Given the description of an element on the screen output the (x, y) to click on. 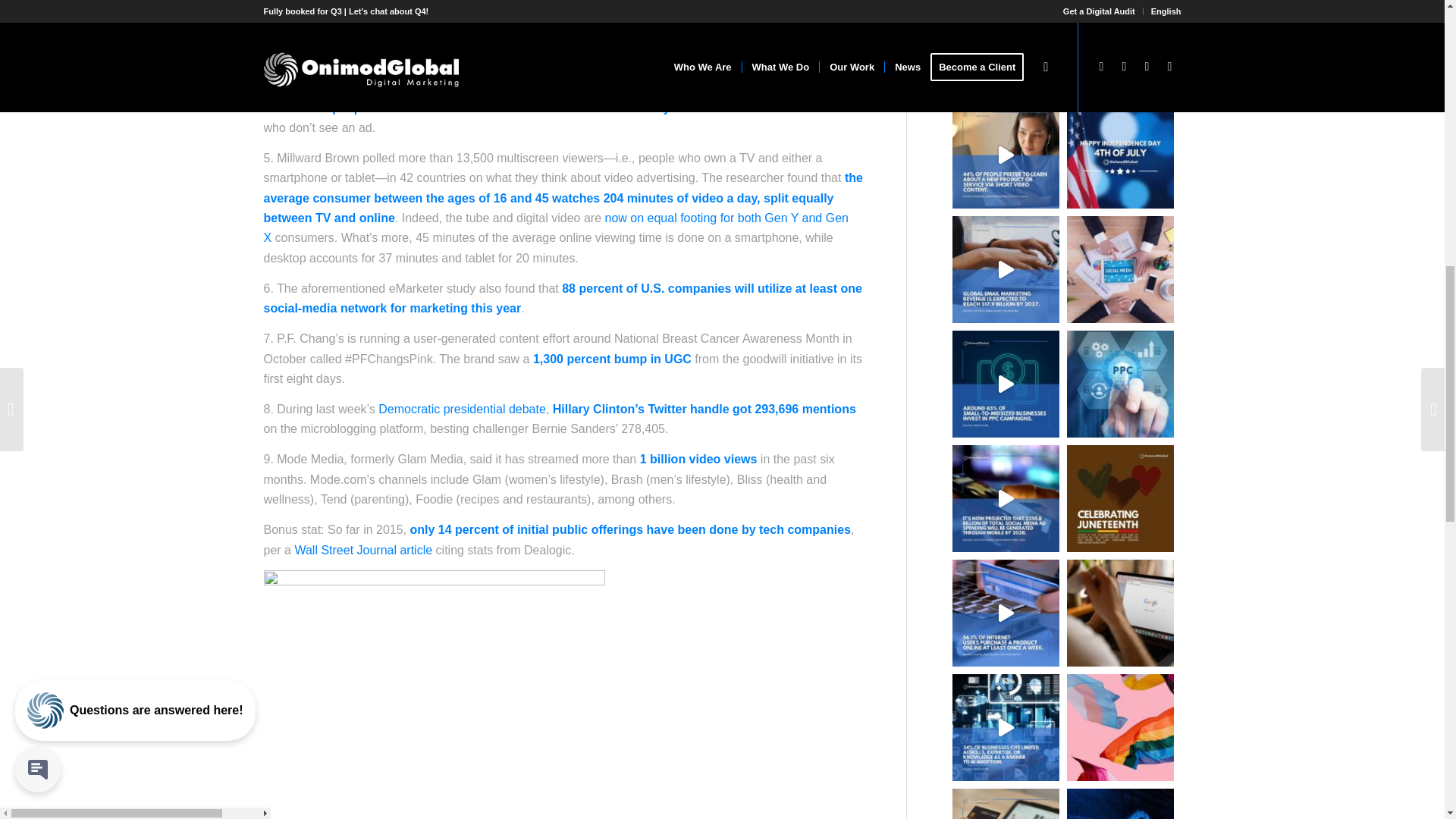
now on equal footing for both Gen Y and Gen X (555, 227)
Wall Street Journal article (363, 549)
Democratic presidential debate (462, 408)
offering Conversion Lift (440, 67)
